Given the description of an element on the screen output the (x, y) to click on. 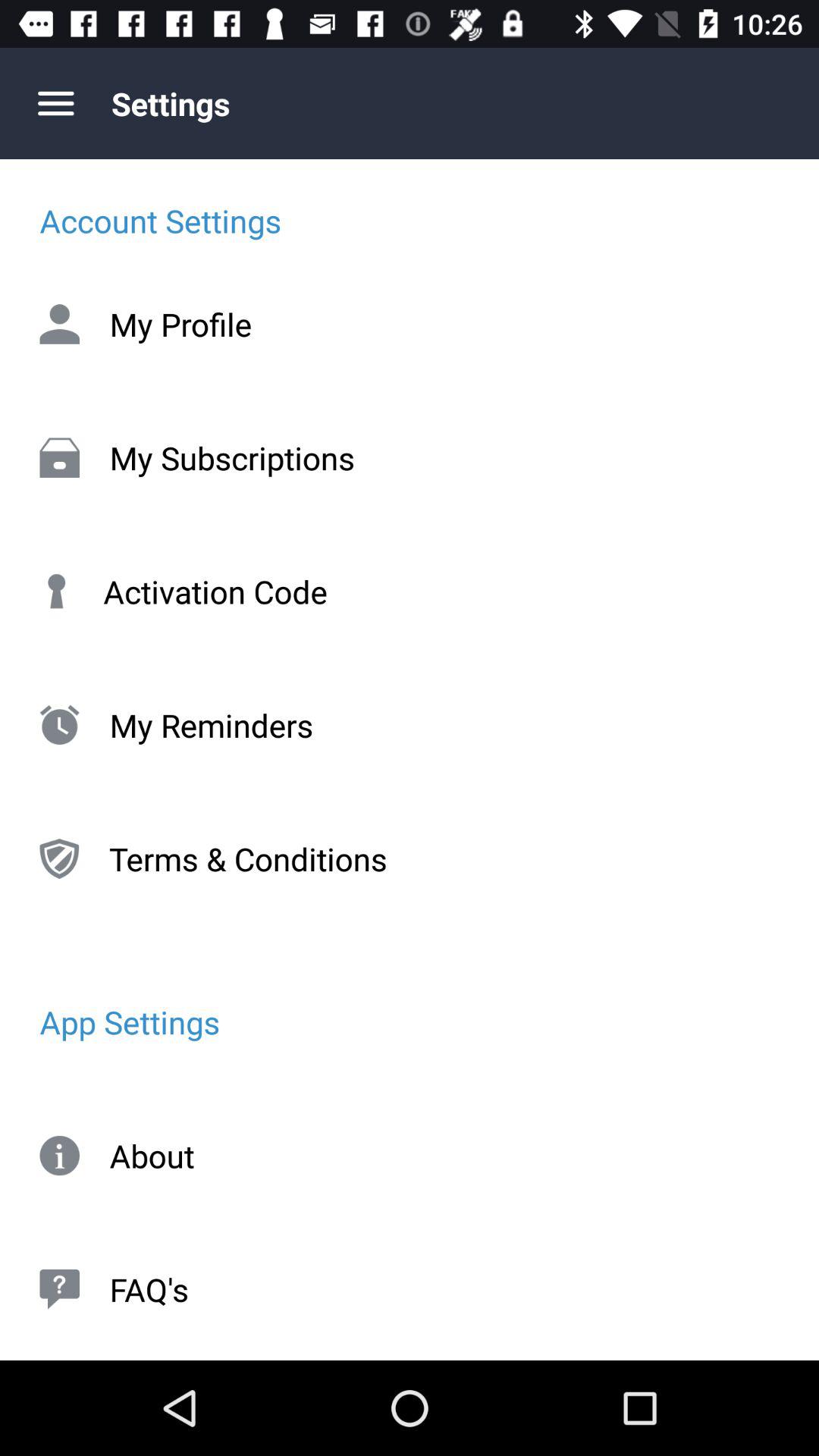
swipe to faq's item (409, 1289)
